Given the description of an element on the screen output the (x, y) to click on. 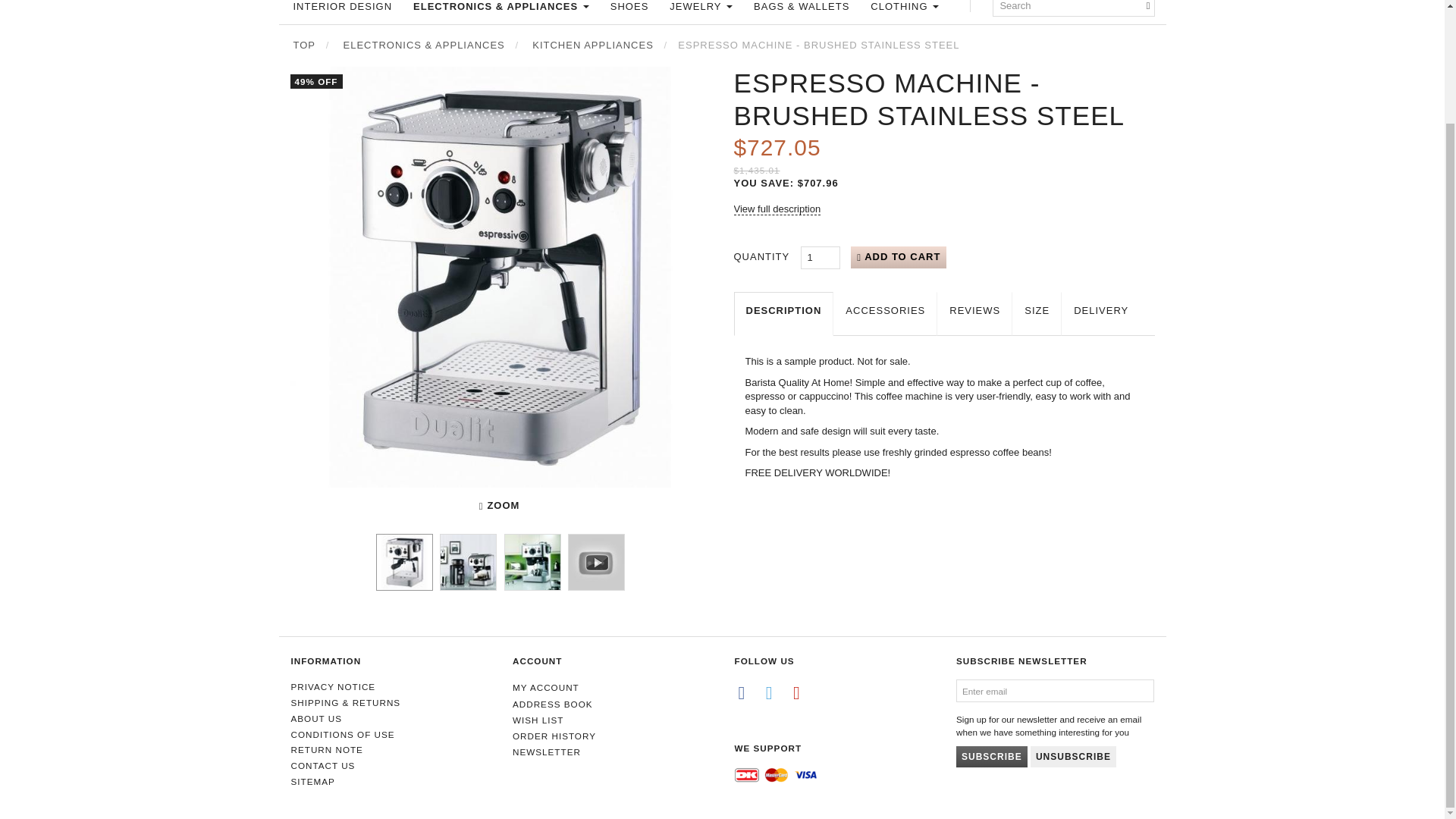
JEWELRY (700, 6)
INTERIOR DESIGN (341, 6)
1 (820, 257)
SHOES (629, 6)
